Given the description of an element on the screen output the (x, y) to click on. 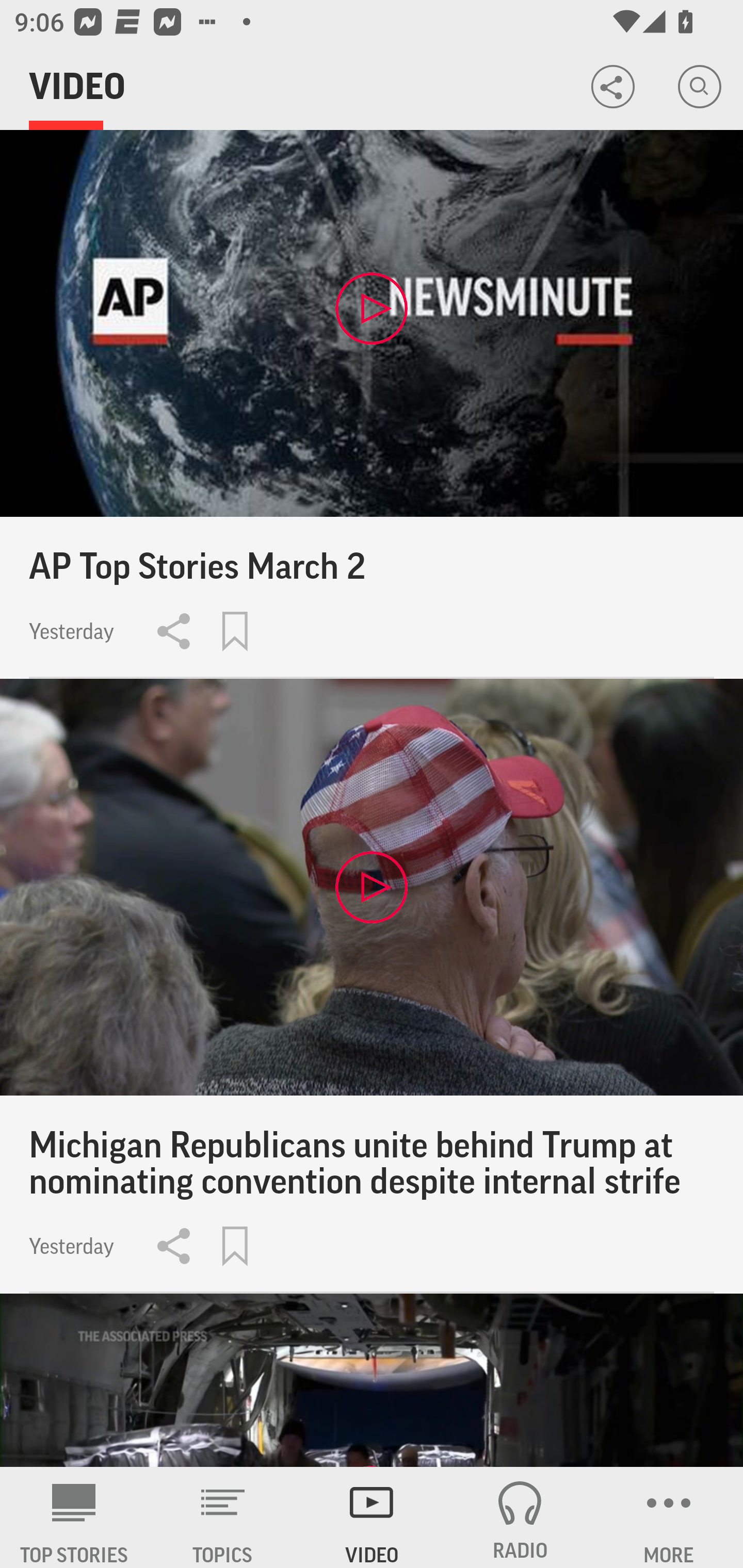
AP Top Stories March 2 Yesterday (371, 404)
AP News TOP STORIES (74, 1517)
TOPICS (222, 1517)
VIDEO (371, 1517)
RADIO (519, 1517)
MORE (668, 1517)
